Given the description of an element on the screen output the (x, y) to click on. 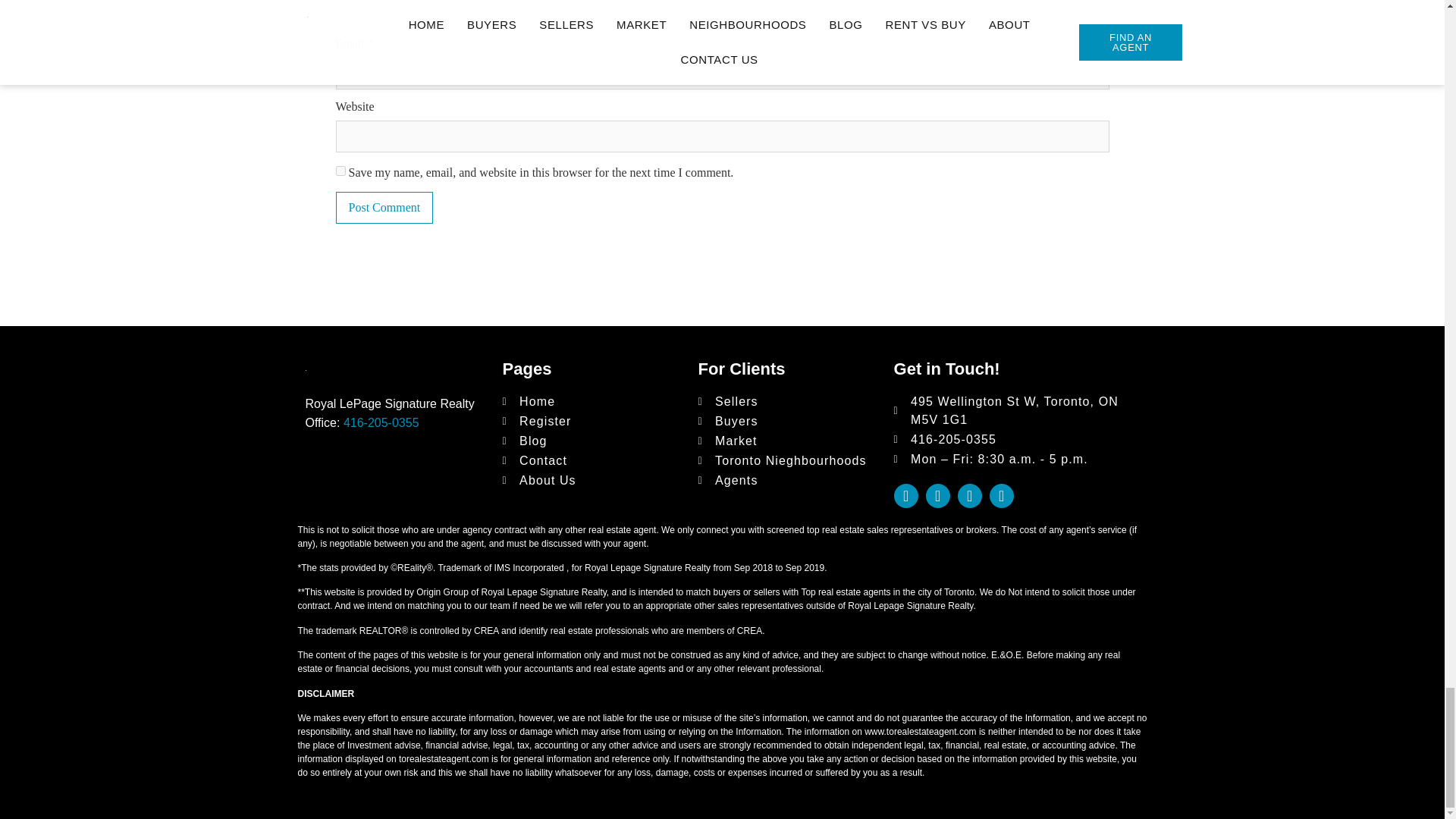
Post Comment (383, 207)
yes (339, 171)
